Given the description of an element on the screen output the (x, y) to click on. 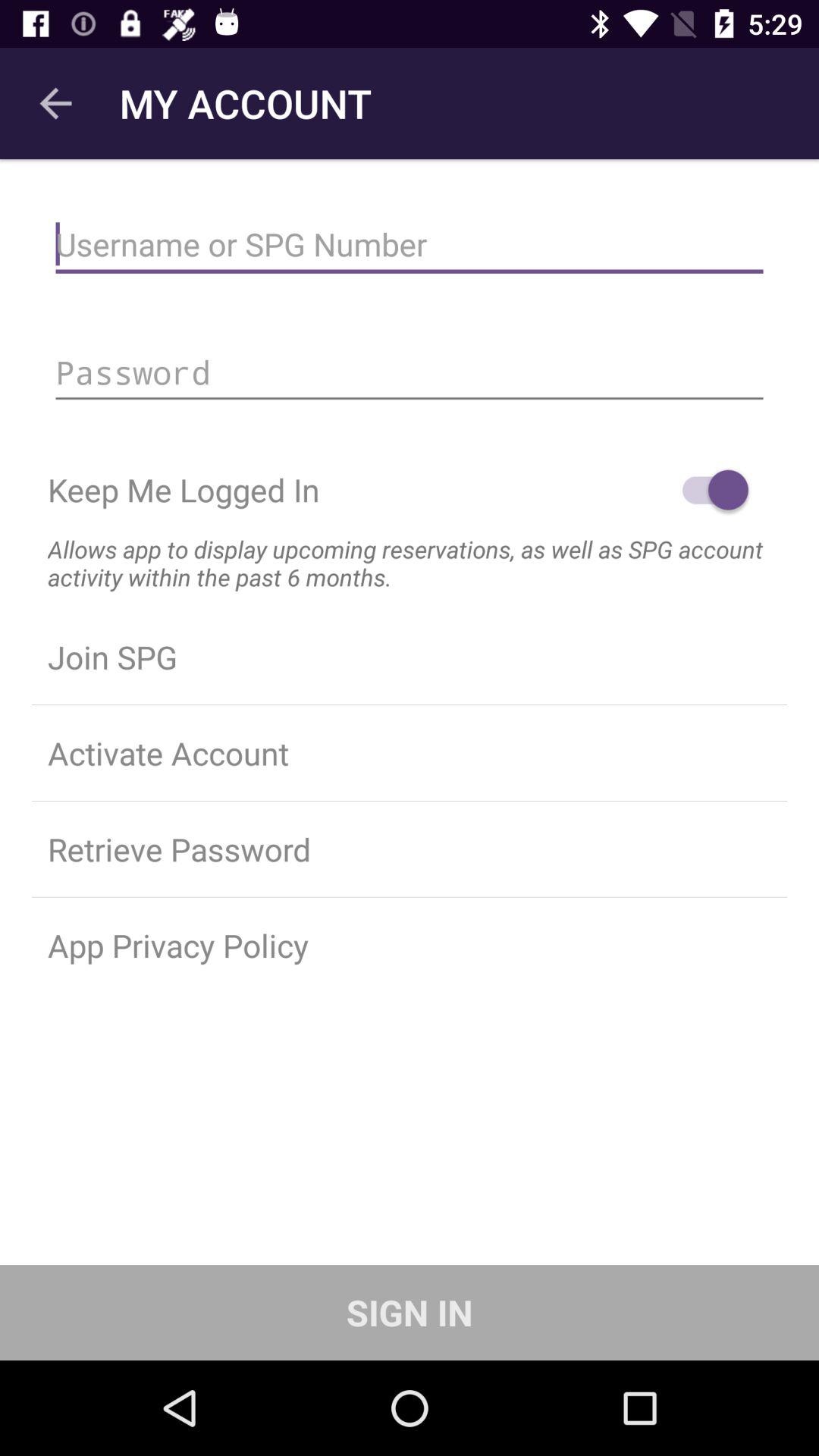
click the item next to my account item (55, 103)
